Given the description of an element on the screen output the (x, y) to click on. 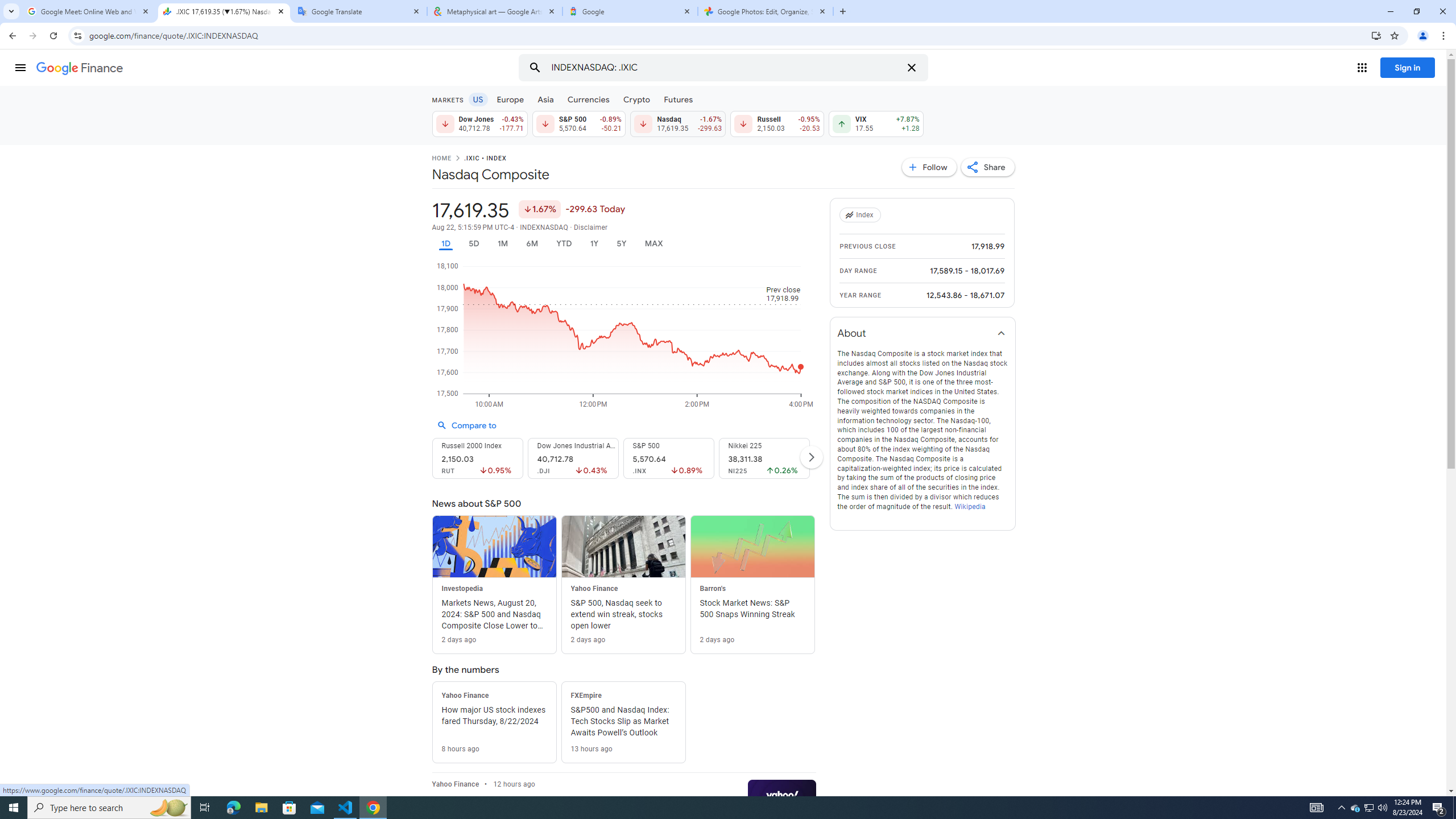
Currencies (588, 99)
Disclaimer (590, 227)
Follow (929, 167)
